Given the description of an element on the screen output the (x, y) to click on. 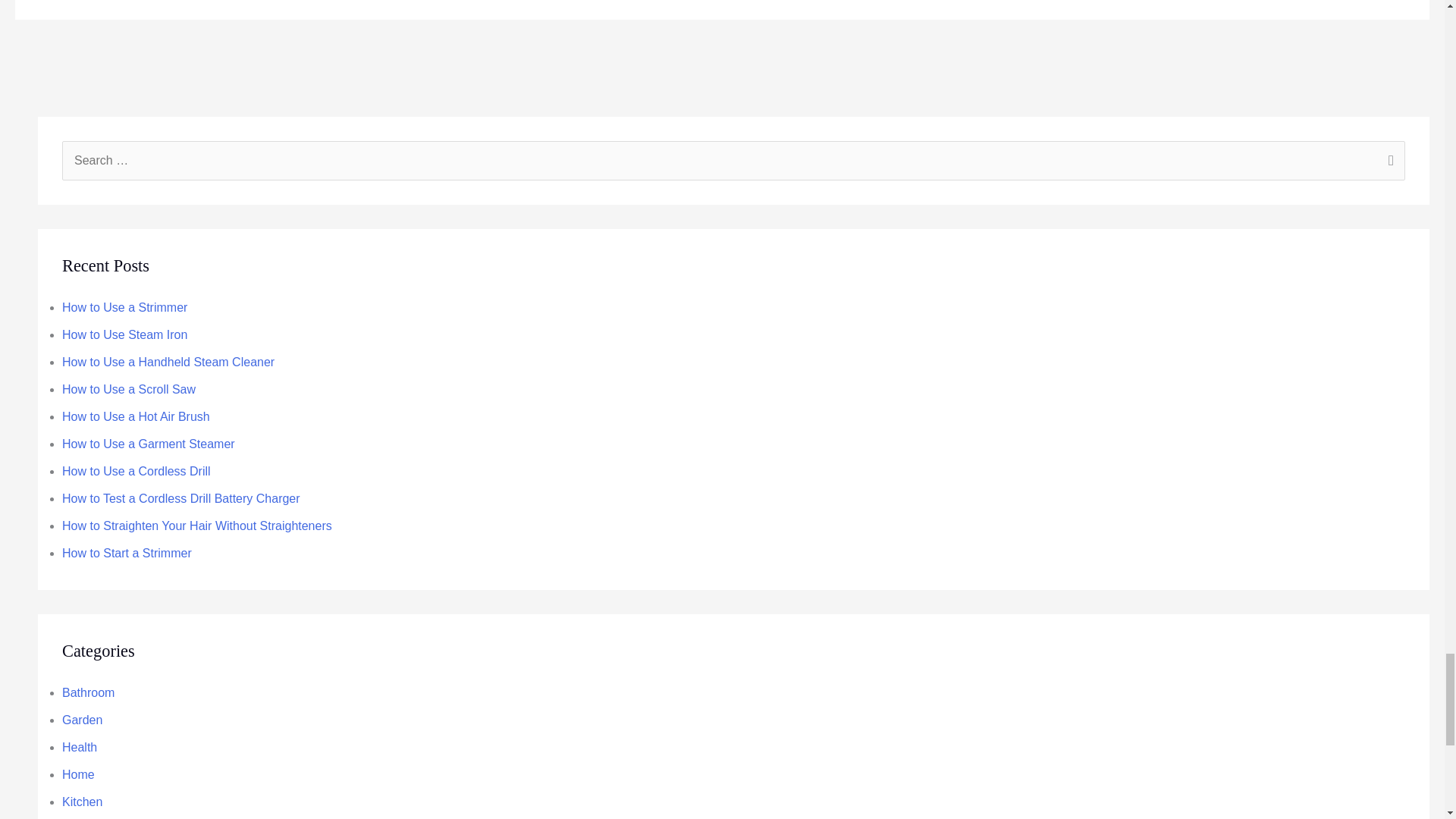
Kitchen (81, 801)
Home (78, 774)
How to Use a Strimmer (124, 307)
How to Straighten Your Hair Without Straighteners (196, 525)
Bathroom (88, 692)
Garden (81, 719)
How to Use a Hot Air Brush (135, 416)
How to Use a Handheld Steam Cleaner (168, 361)
How to Use a Scroll Saw (128, 389)
How to Use Steam Iron (124, 334)
How to Test a Cordless Drill Battery Charger (180, 498)
How to Use a Garment Steamer (148, 443)
How to Start a Strimmer (127, 553)
Health (79, 747)
How to Use a Cordless Drill (136, 471)
